Given the description of an element on the screen output the (x, y) to click on. 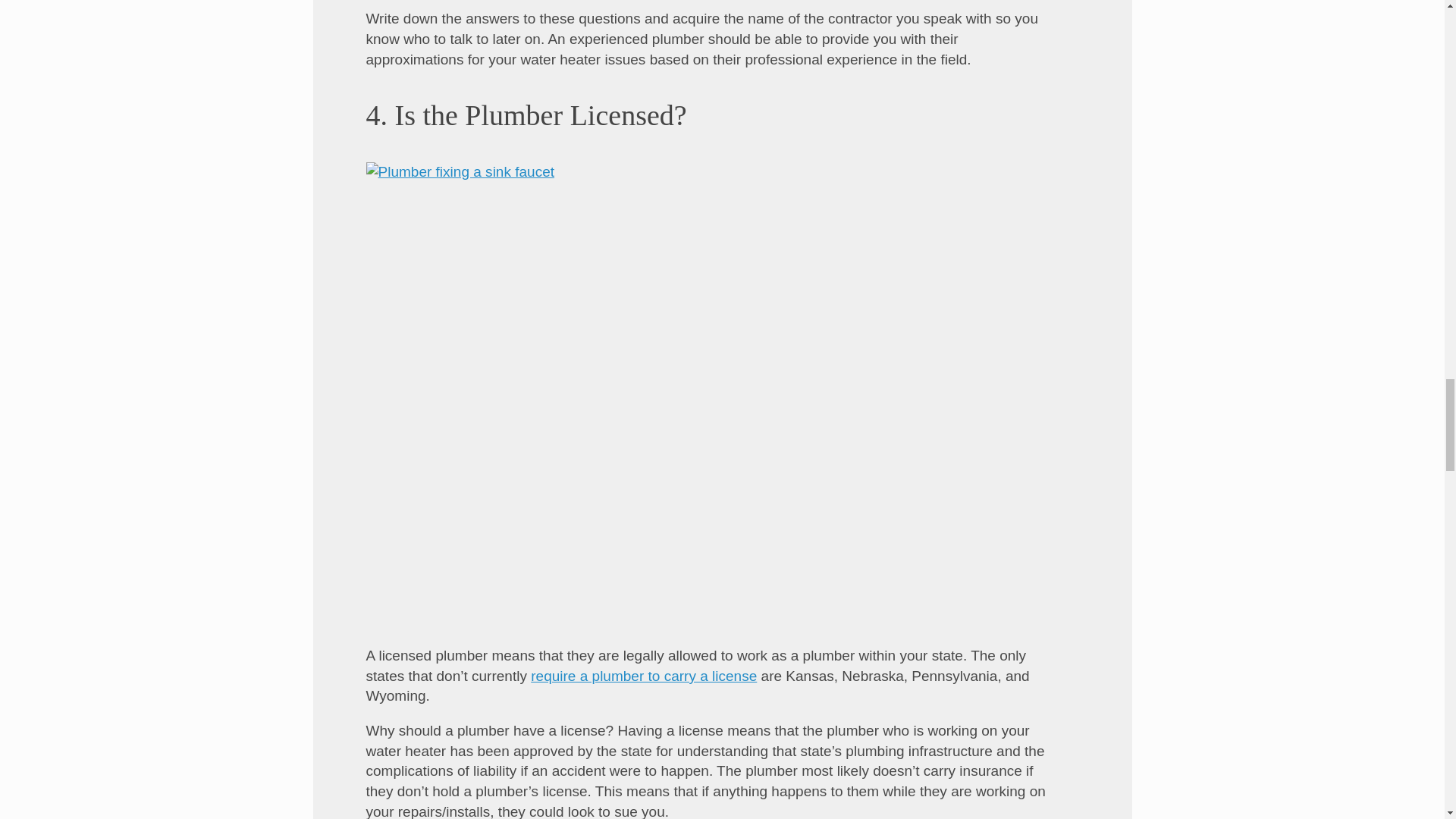
require a plumber to carry a license (644, 675)
